Given the description of an element on the screen output the (x, y) to click on. 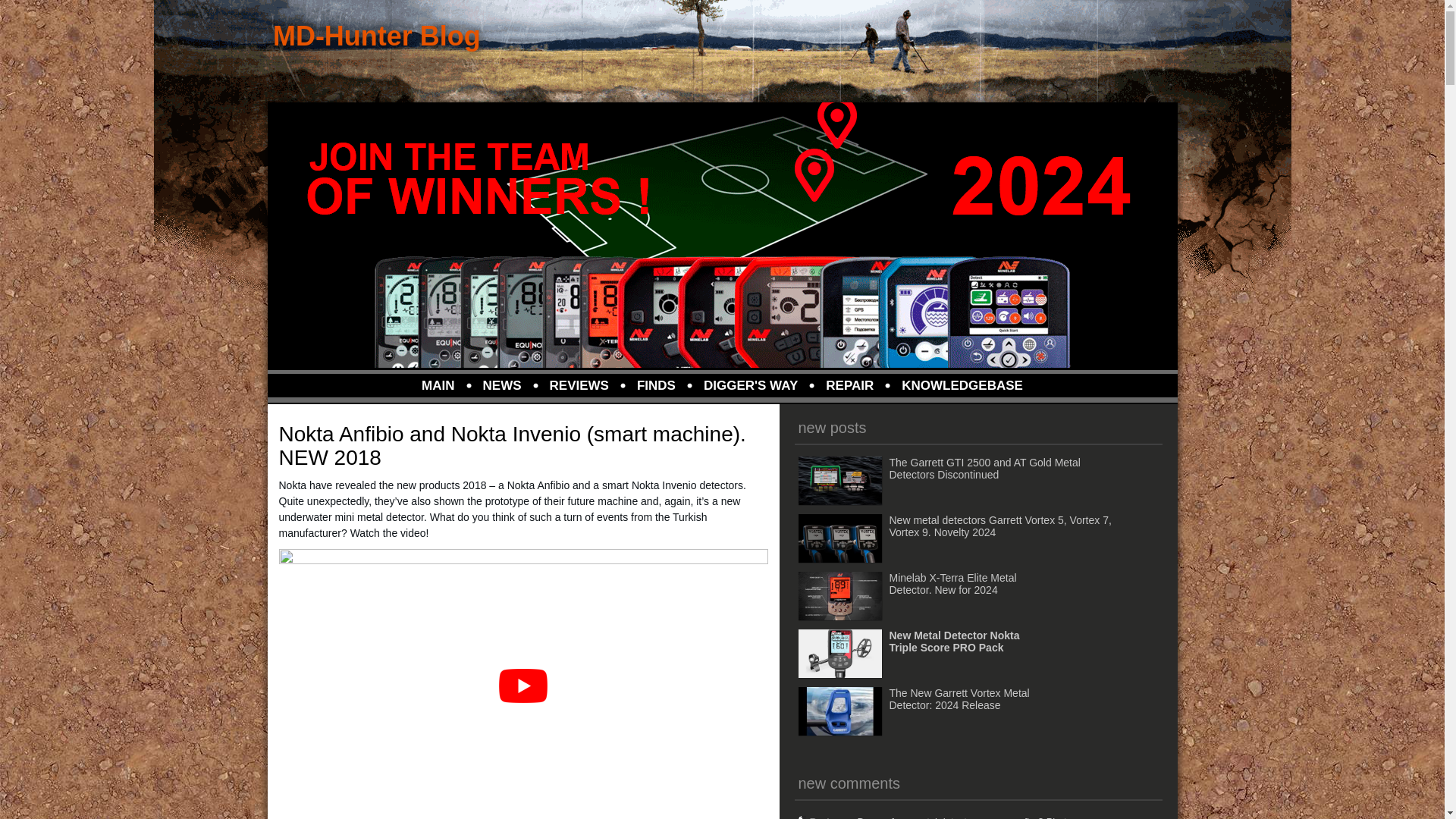
DIGGER'S WAY (751, 385)
wiki (961, 385)
wiki (849, 385)
Minelab X-Terra Elite Metal Detector. New for 2024 (916, 596)
reviews (579, 385)
Main (437, 385)
REPAIR (849, 385)
REVIEWS (579, 385)
The New Garrett Vortex Metal Detector: 2024 Release (924, 712)
KNOWLEDGEBASE (961, 385)
news (501, 385)
finds (656, 385)
FINDS (656, 385)
